Given the description of an element on the screen output the (x, y) to click on. 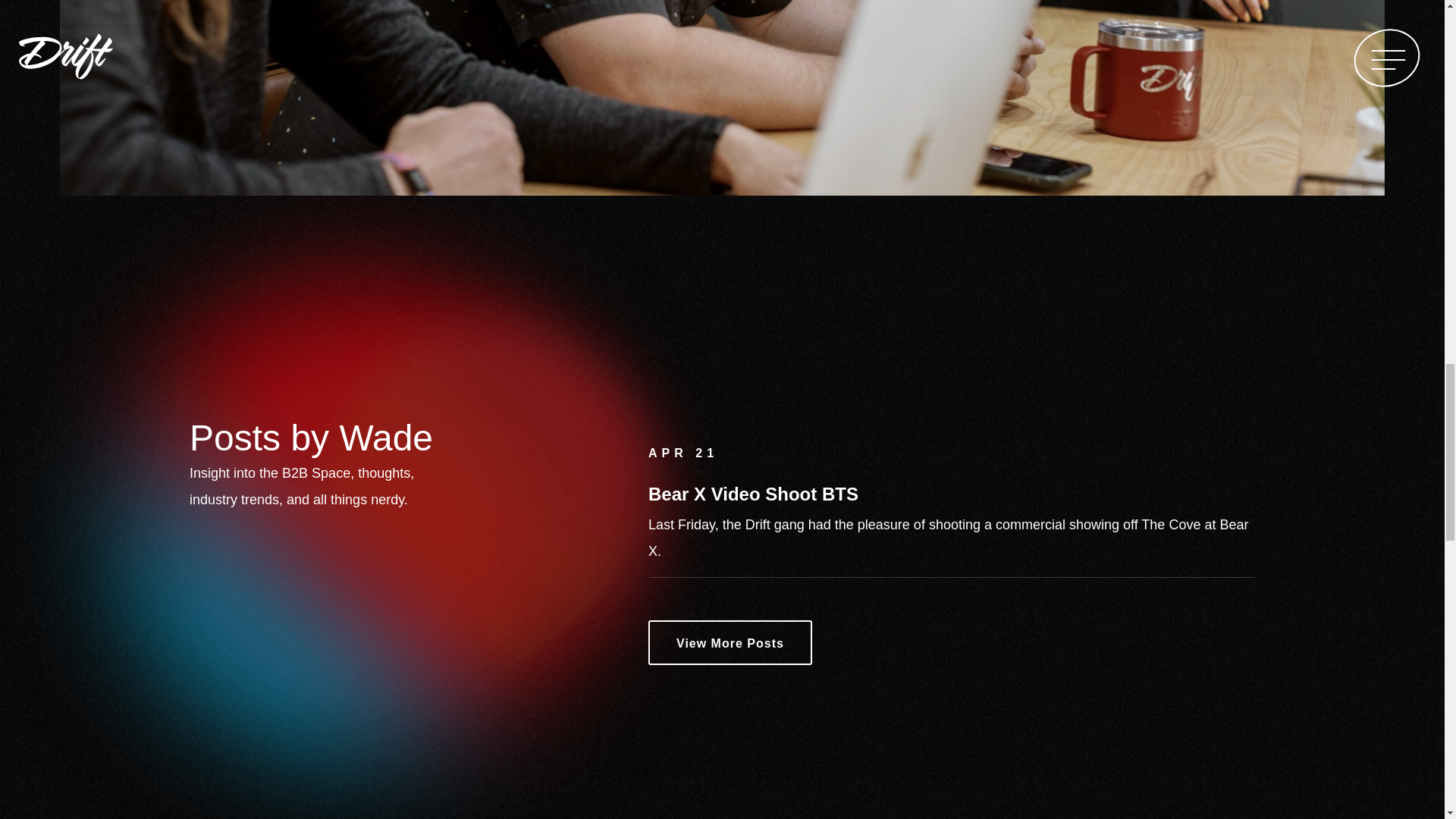
View More Posts (729, 642)
